Given the description of an element on the screen output the (x, y) to click on. 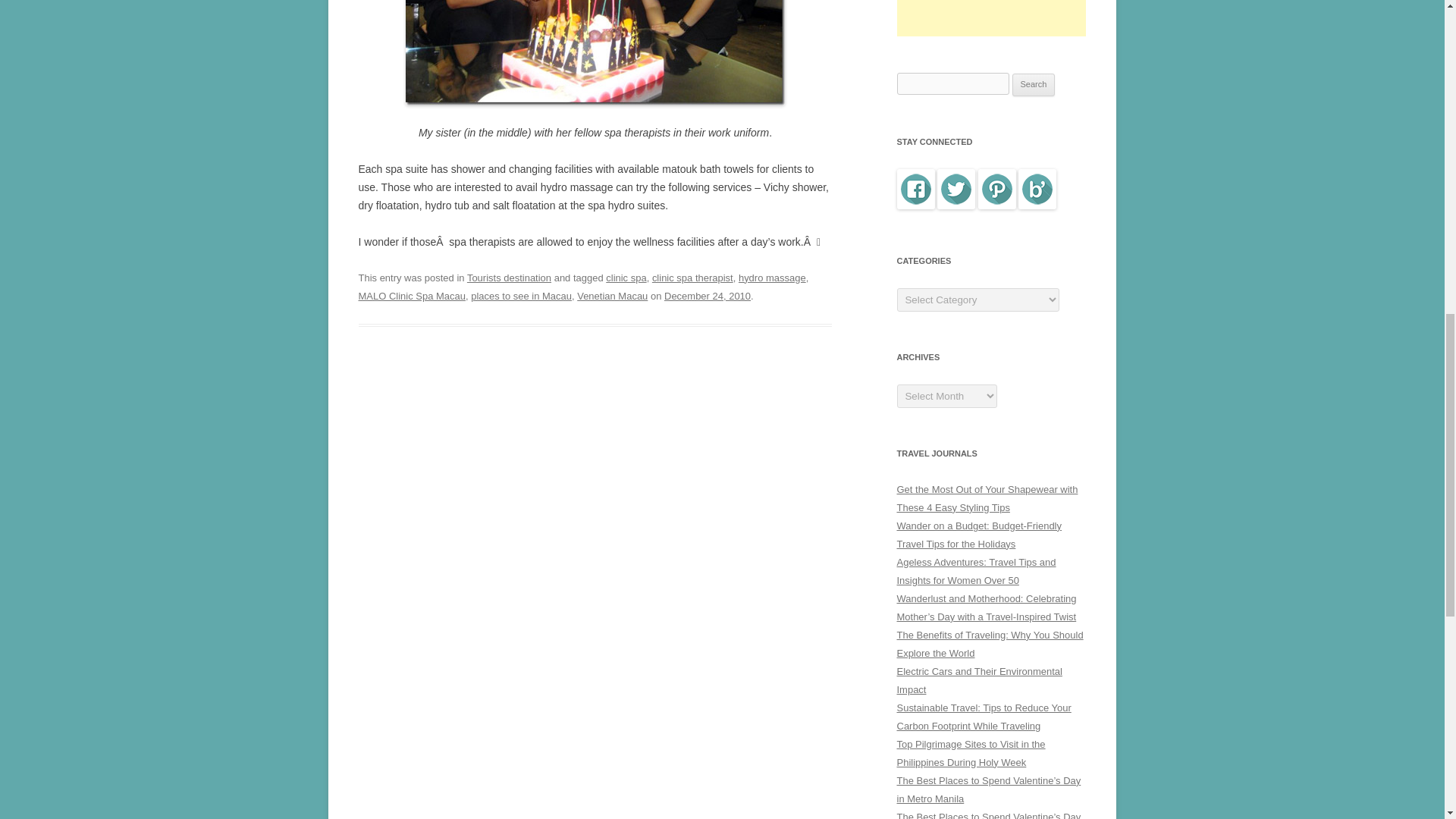
The Benefits of Traveling: Why You Should Explore the World (989, 644)
hydro massage (772, 277)
Venetian Macau (611, 296)
Search (1033, 84)
Search (1033, 84)
places to see in Macau (521, 296)
MALO Spa Therapists (595, 52)
Tourists destination (509, 277)
clinic spa therapist (692, 277)
Electric Cars and Their Environmental Impact (978, 680)
December 24, 2010 (707, 296)
